Given the description of an element on the screen output the (x, y) to click on. 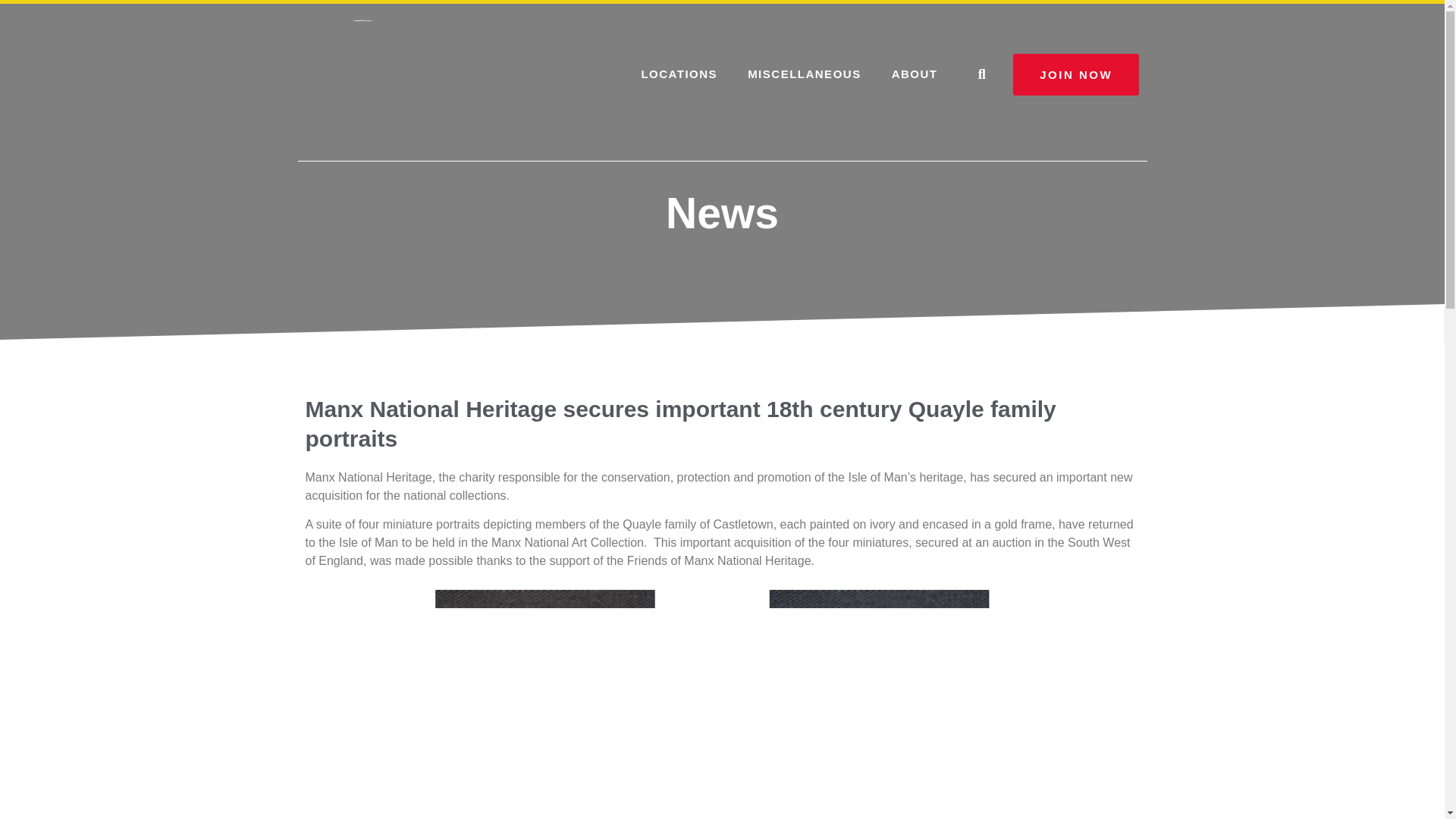
LOCATIONS (679, 74)
MISCELLANEOUS (804, 74)
JOIN NOW (1075, 74)
ABOUT (914, 74)
